Given the description of an element on the screen output the (x, y) to click on. 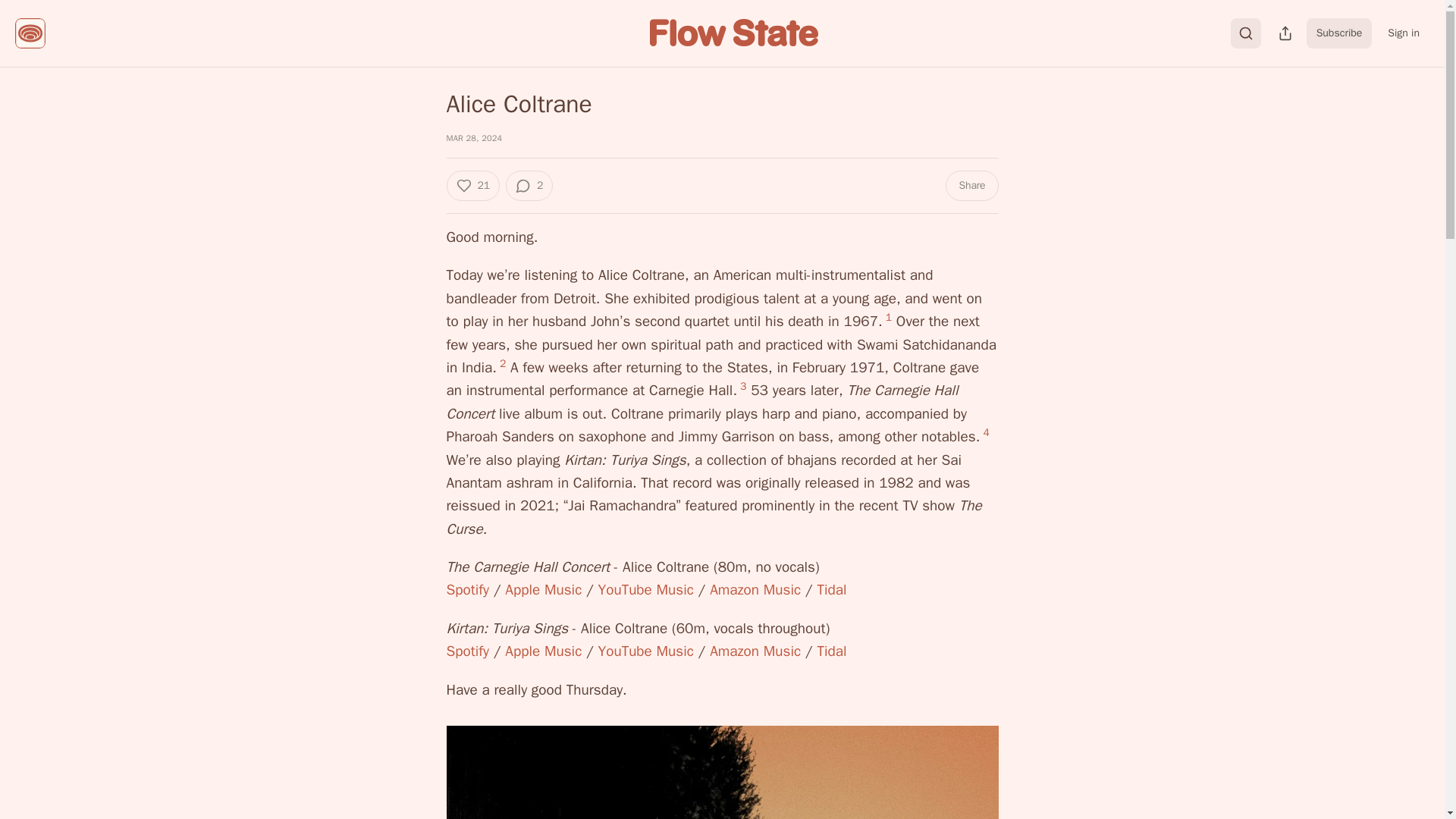
Apple Music (542, 651)
Subscribe (1339, 33)
21 (472, 185)
Sign in (1403, 33)
Apple Music (542, 589)
Spotify (467, 589)
Amazon Music (755, 589)
YouTube Music (646, 589)
Tidal (830, 651)
Spotify (467, 651)
YouTube Music (646, 651)
Amazon Music (755, 651)
Tidal (830, 589)
2 (529, 185)
Share (970, 185)
